Given the description of an element on the screen output the (x, y) to click on. 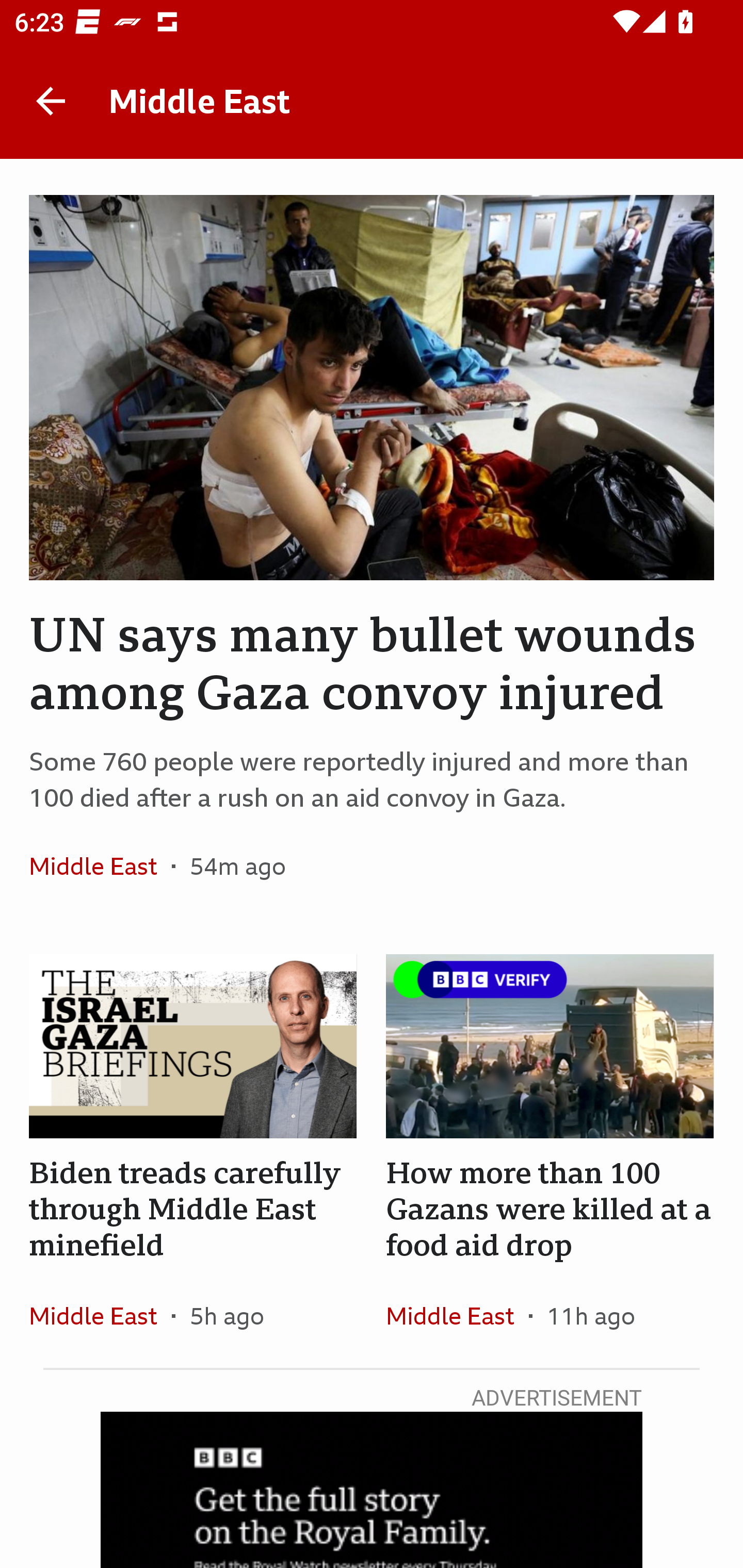
Back (50, 101)
Middle East In the section Middle East (99, 865)
Middle East In the section Middle East (99, 1315)
Middle East In the section Middle East (457, 1315)
